Given the description of an element on the screen output the (x, y) to click on. 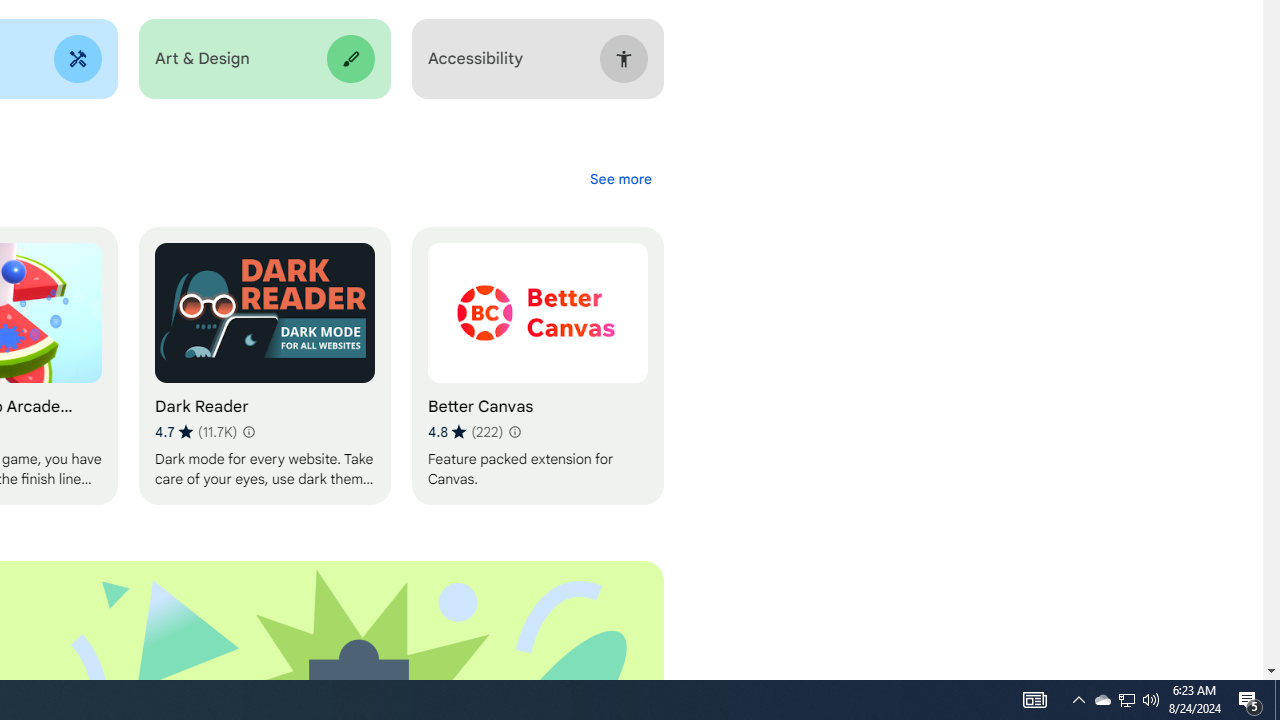
Dark Reader (264, 366)
Average rating 4.8 out of 5 stars. 222 ratings. (465, 431)
Better Canvas (537, 366)
See more personalized recommendations (620, 178)
Average rating 4.7 out of 5 stars. 11.7K ratings. (195, 431)
Learn more about results and reviews "Dark Reader" (247, 431)
Learn more about results and reviews "Better Canvas" (513, 431)
Accessibility (537, 59)
Art & Design (264, 59)
